Given the description of an element on the screen output the (x, y) to click on. 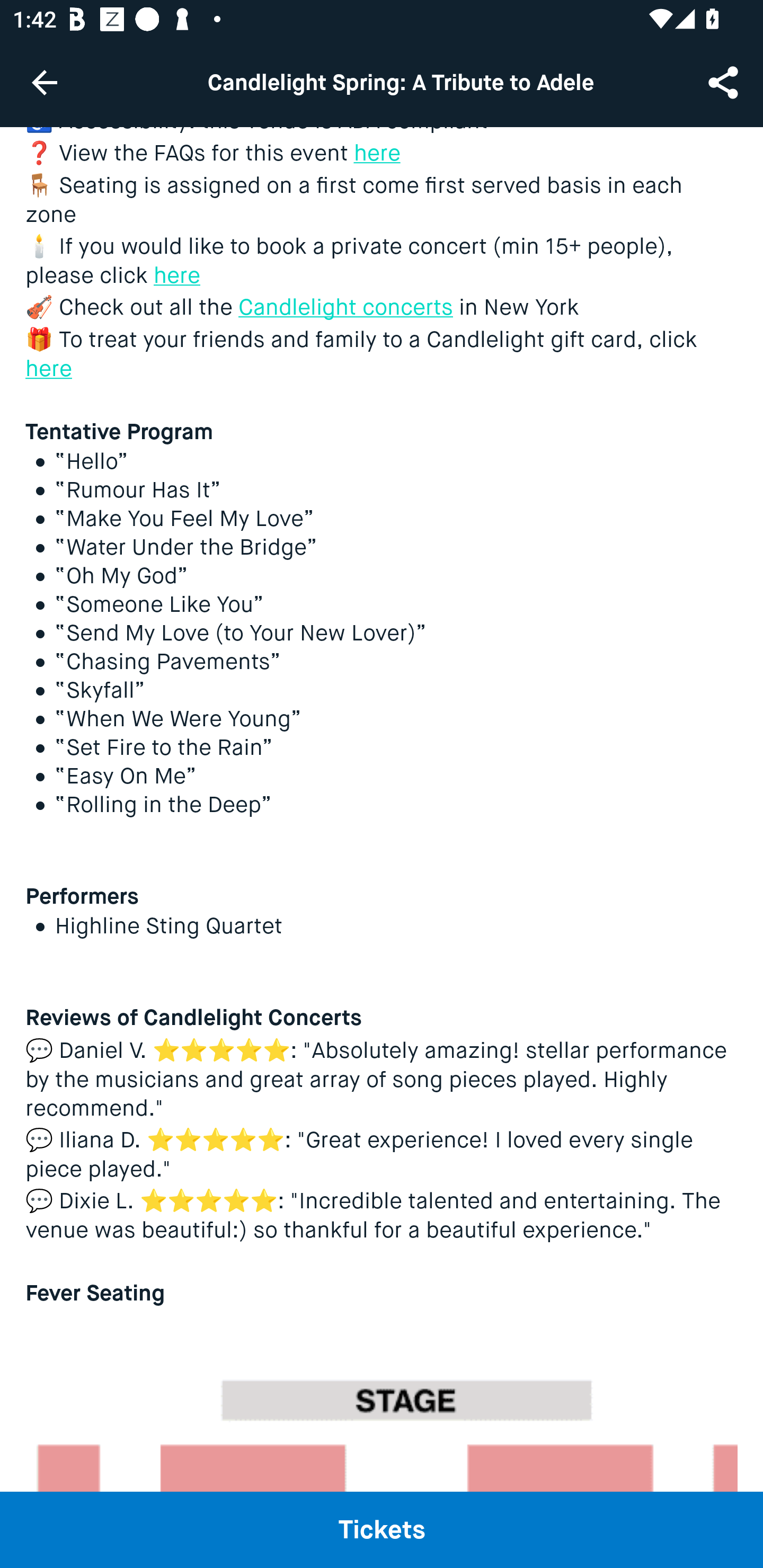
Navigate up (44, 82)
Share (724, 81)
Tickets (381, 1529)
